Given the description of an element on the screen output the (x, y) to click on. 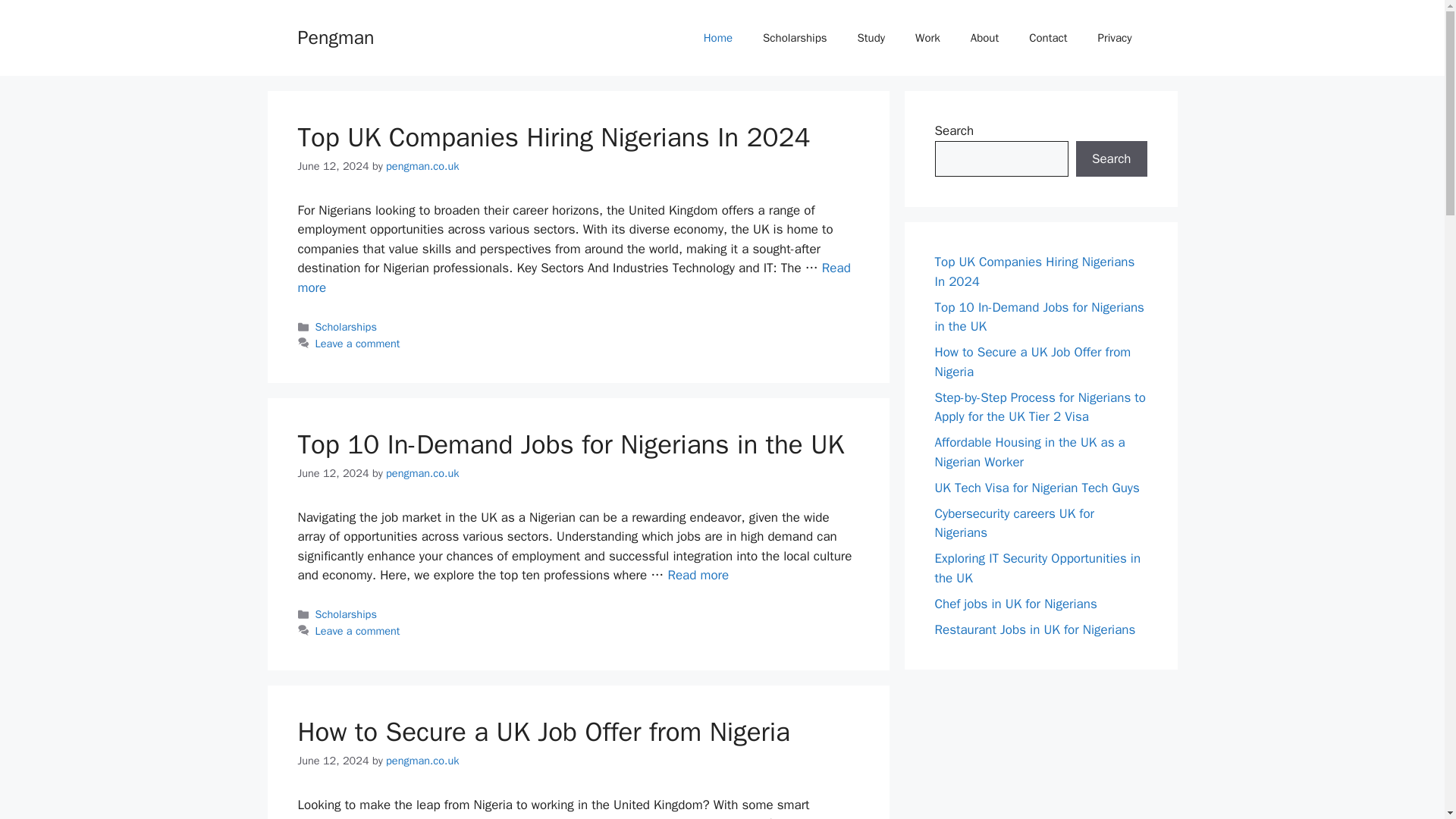
View all posts by pengman.co.uk (421, 760)
View all posts by pengman.co.uk (421, 472)
How to Secure a UK Job Offer from Nigeria (543, 731)
pengman.co.uk (421, 472)
Privacy (1115, 37)
Top UK Companies Hiring Nigerians In 2024 (553, 136)
Leave a comment (357, 343)
Top 10 In-Demand Jobs for Nigerians in the UK (570, 444)
View all posts by pengman.co.uk (421, 165)
Home (718, 37)
Scholarships (346, 613)
Pengman (335, 37)
pengman.co.uk (421, 165)
Top 10 In-Demand Jobs for Nigerians in the UK (697, 575)
Work (927, 37)
